Given the description of an element on the screen output the (x, y) to click on. 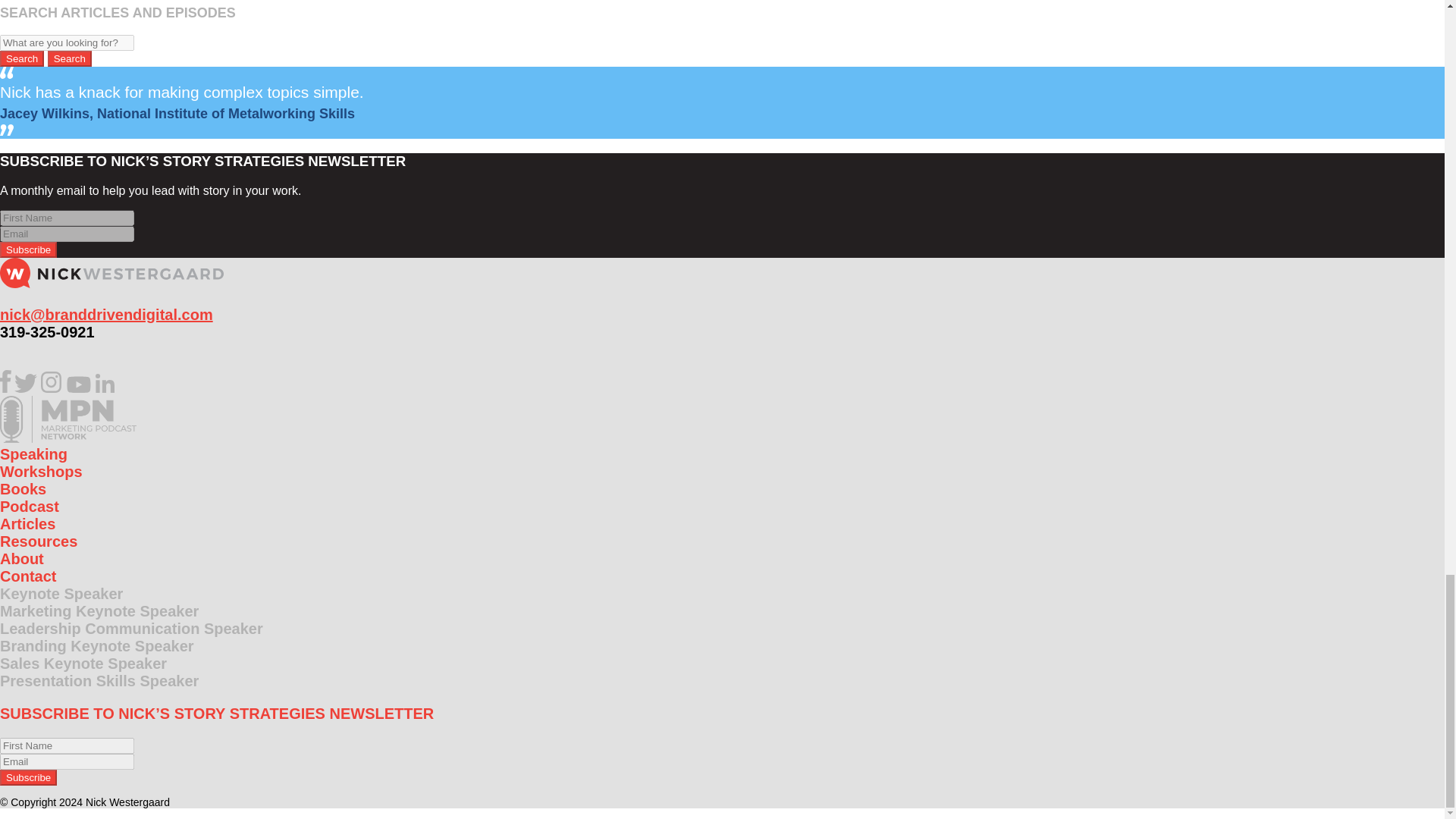
Subscribe (28, 777)
Nick Westergaard on Twitter (25, 388)
Nick Westergaard on Instagram (51, 388)
Nick Westergaard on LinkedIn (105, 388)
Search (21, 58)
Nick Westergaard on YouTube (79, 388)
Nick Westergaard on MPN (68, 438)
Subscribe (28, 249)
Search (69, 58)
